Given the description of an element on the screen output the (x, y) to click on. 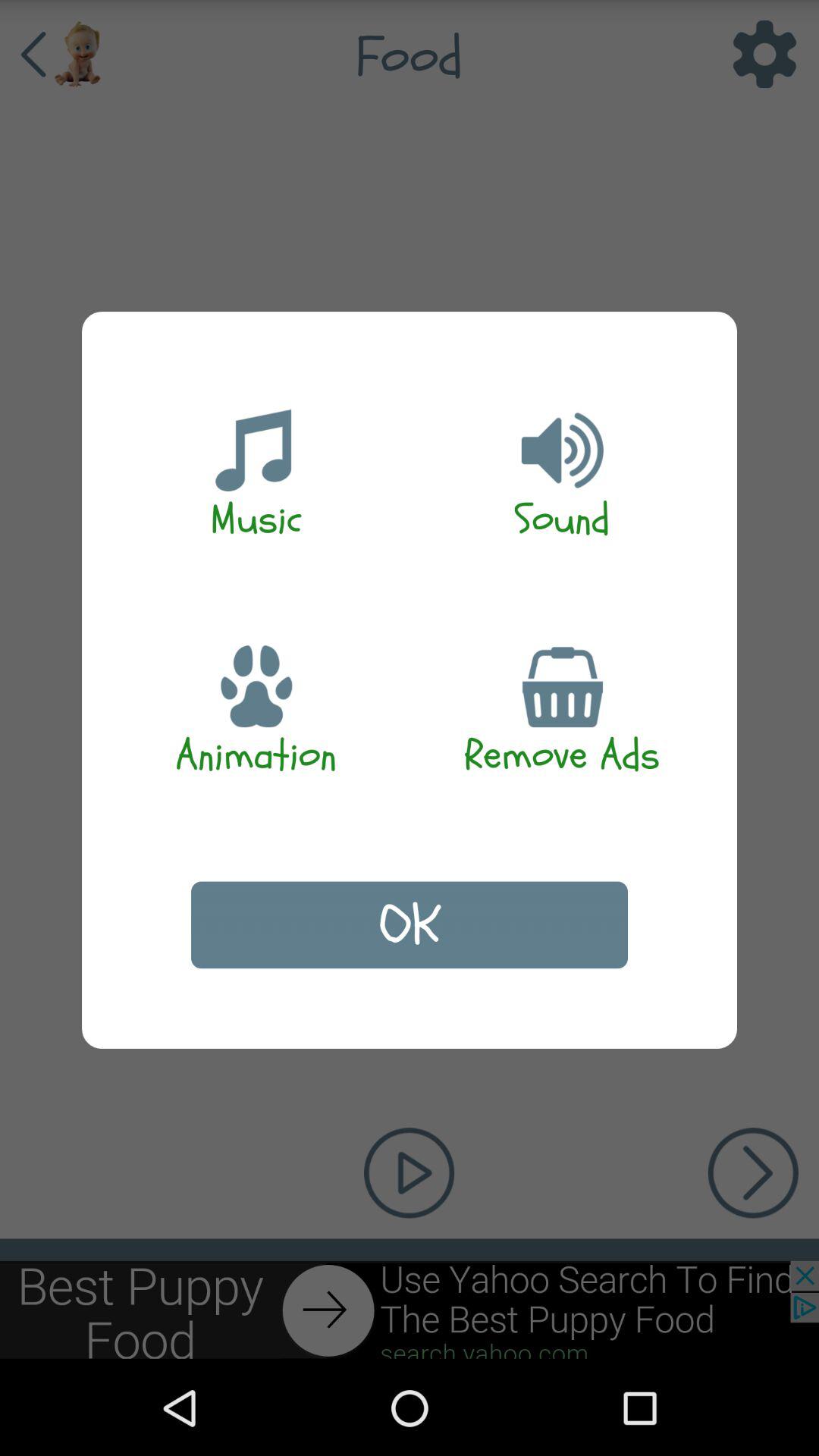
select app below the animation item (409, 924)
